Given the description of an element on the screen output the (x, y) to click on. 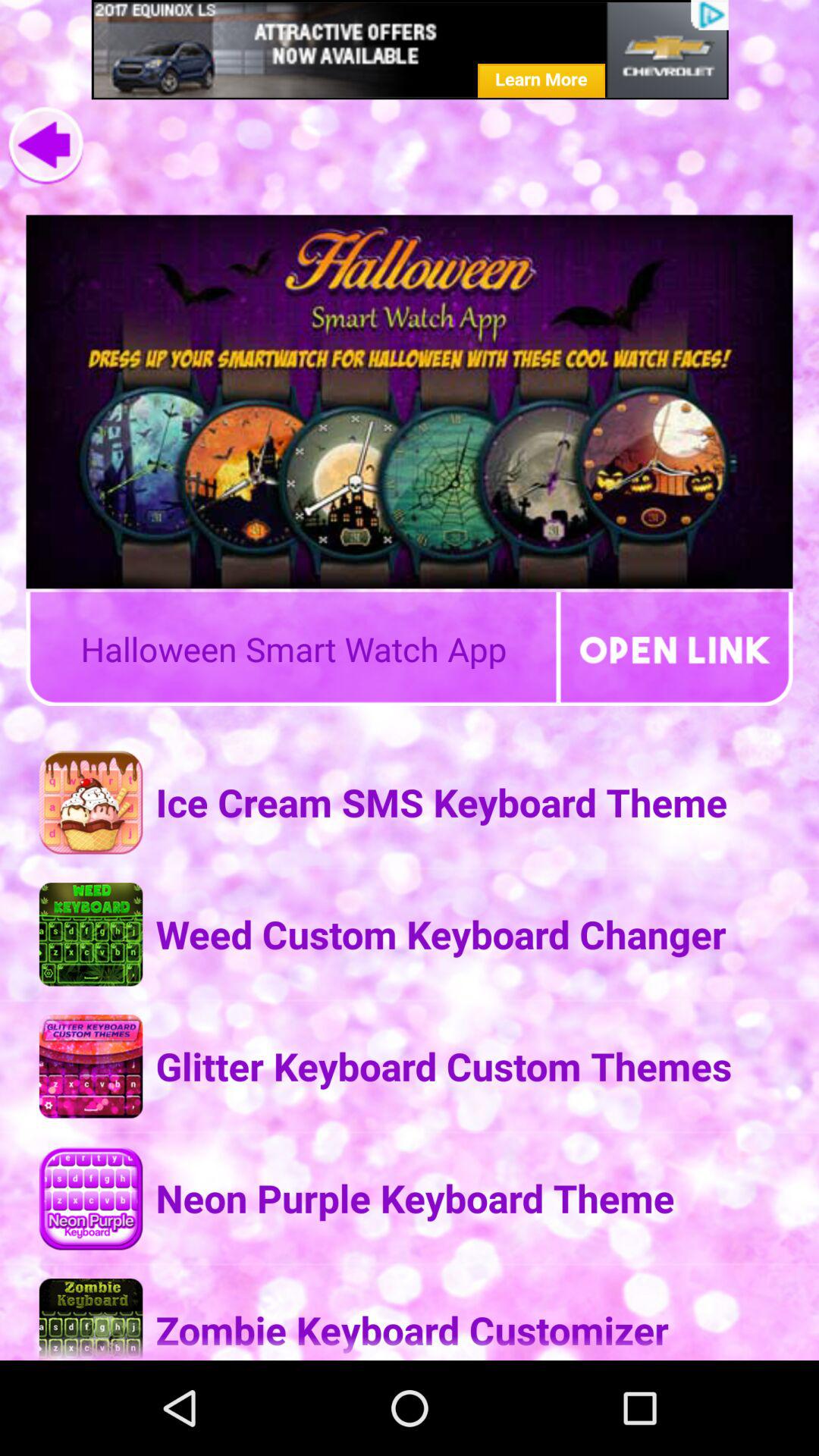
go to the advertisement (409, 49)
